Given the description of an element on the screen output the (x, y) to click on. 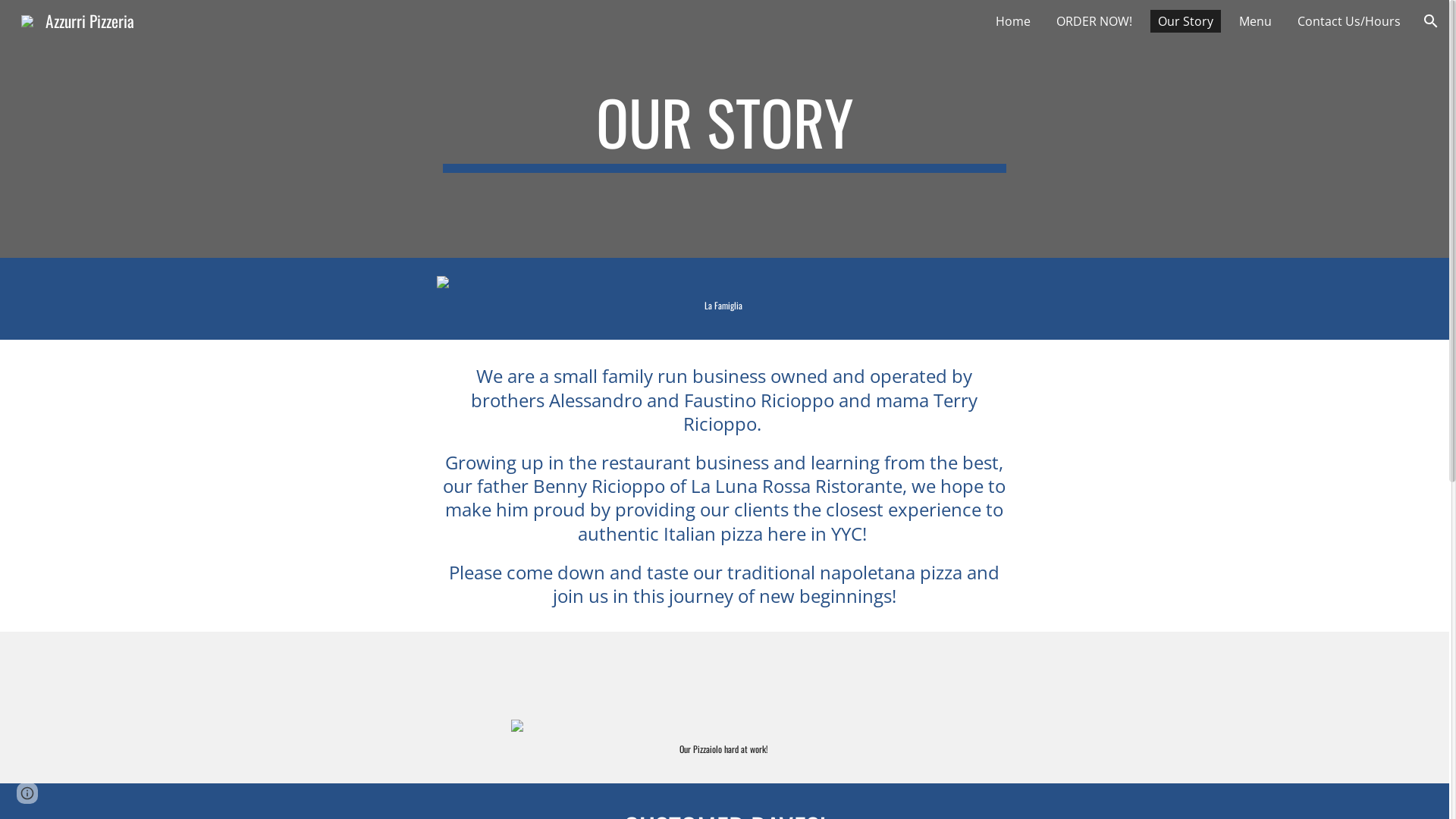
Azzurri Pizzeria Element type: text (77, 18)
Home Element type: text (1013, 20)
ORDER NOW! Element type: text (1093, 20)
Our Story Element type: text (1185, 20)
Menu Element type: text (1255, 20)
Contact Us/Hours Element type: text (1348, 20)
